Given the description of an element on the screen output the (x, y) to click on. 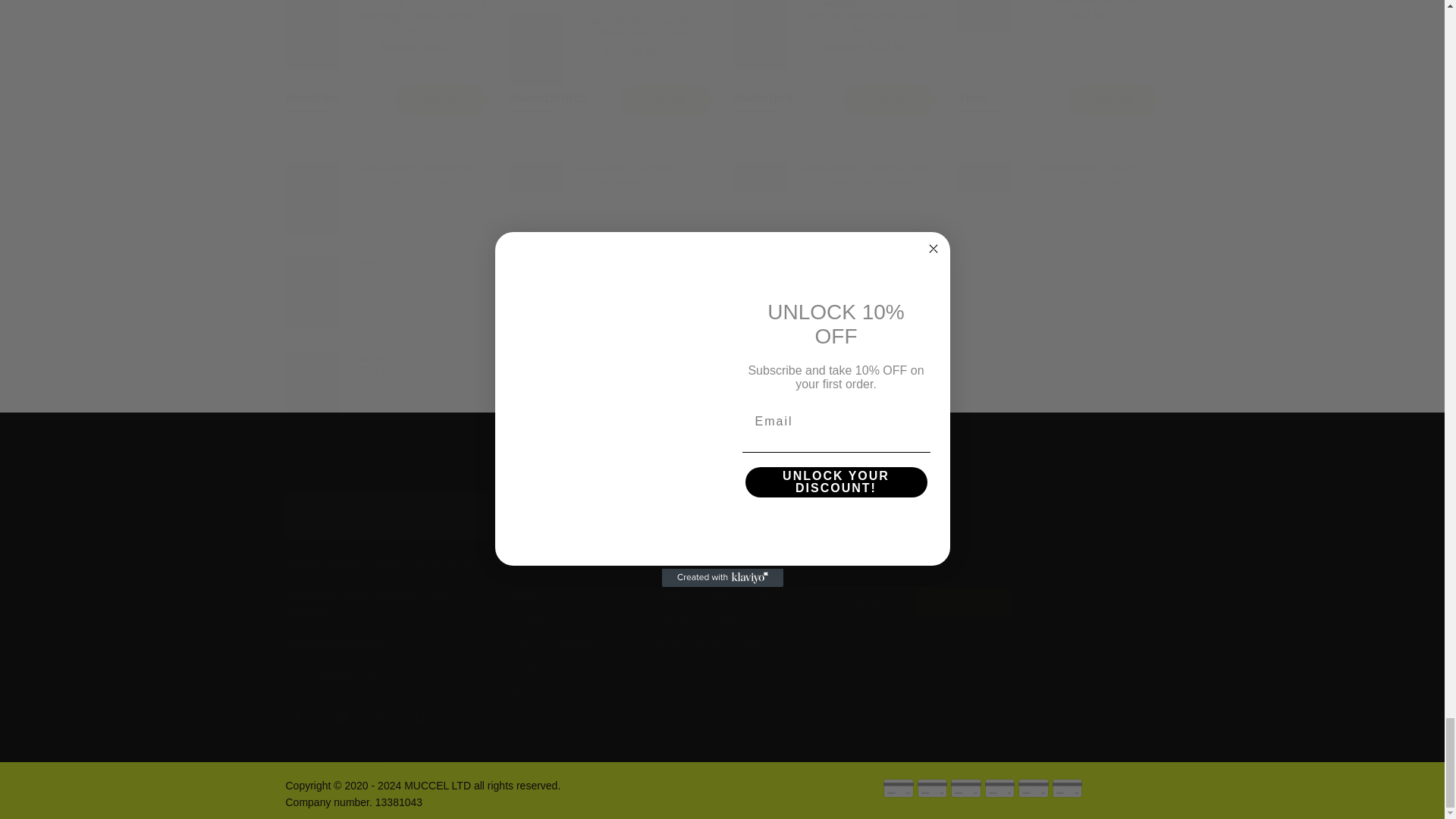
Follow on Instagram (339, 716)
Follow on Pinterest (379, 716)
Follow on Facebook (298, 716)
Follow on Tiktok (420, 716)
